Given the description of an element on the screen output the (x, y) to click on. 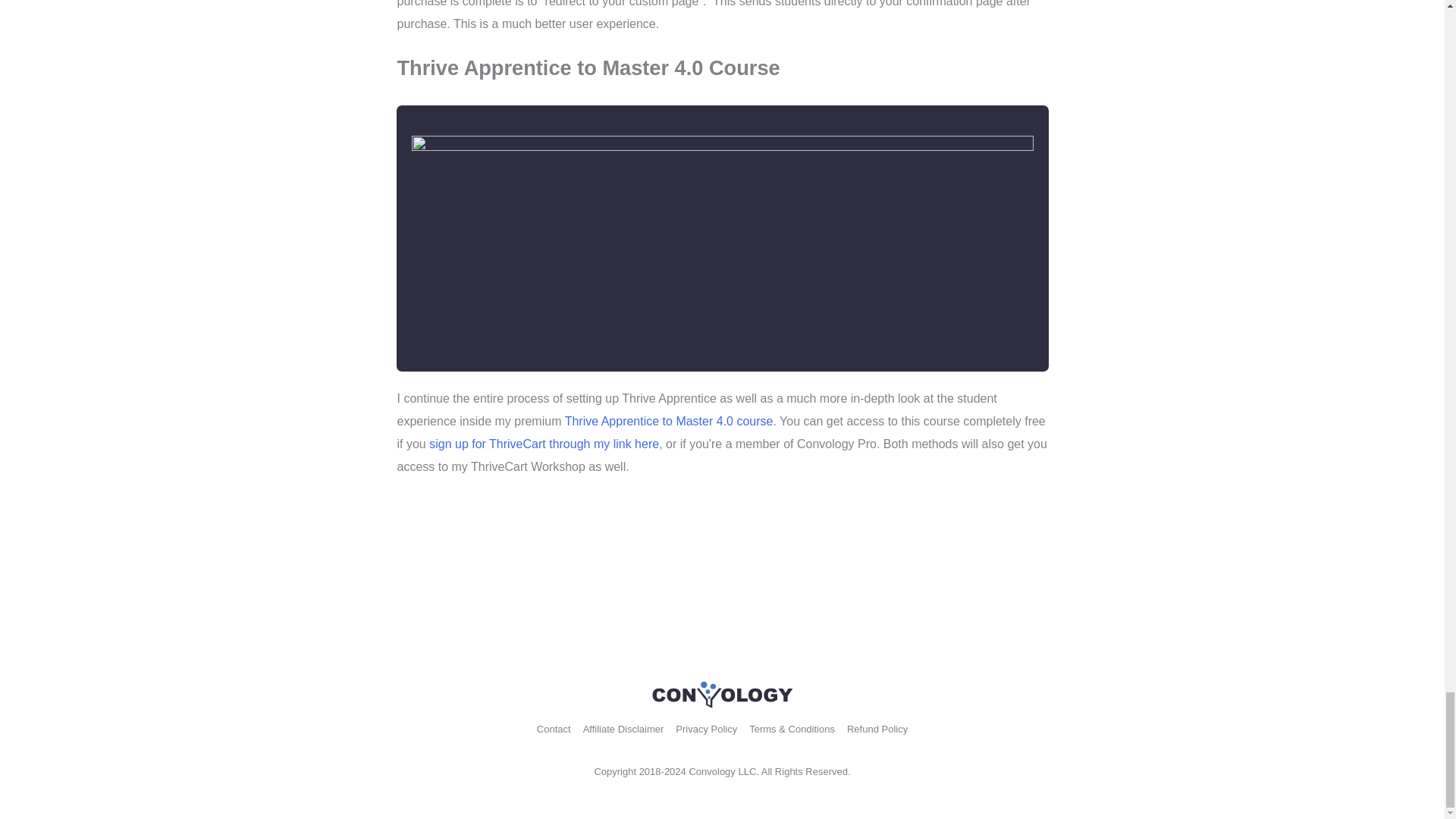
Thrive Apprentice to Master 4.0 course (668, 420)
sign up for ThriveCart through my link here (544, 443)
Contact (553, 728)
thrive apprentice to master 4.0 course (721, 238)
